Given the description of an element on the screen output the (x, y) to click on. 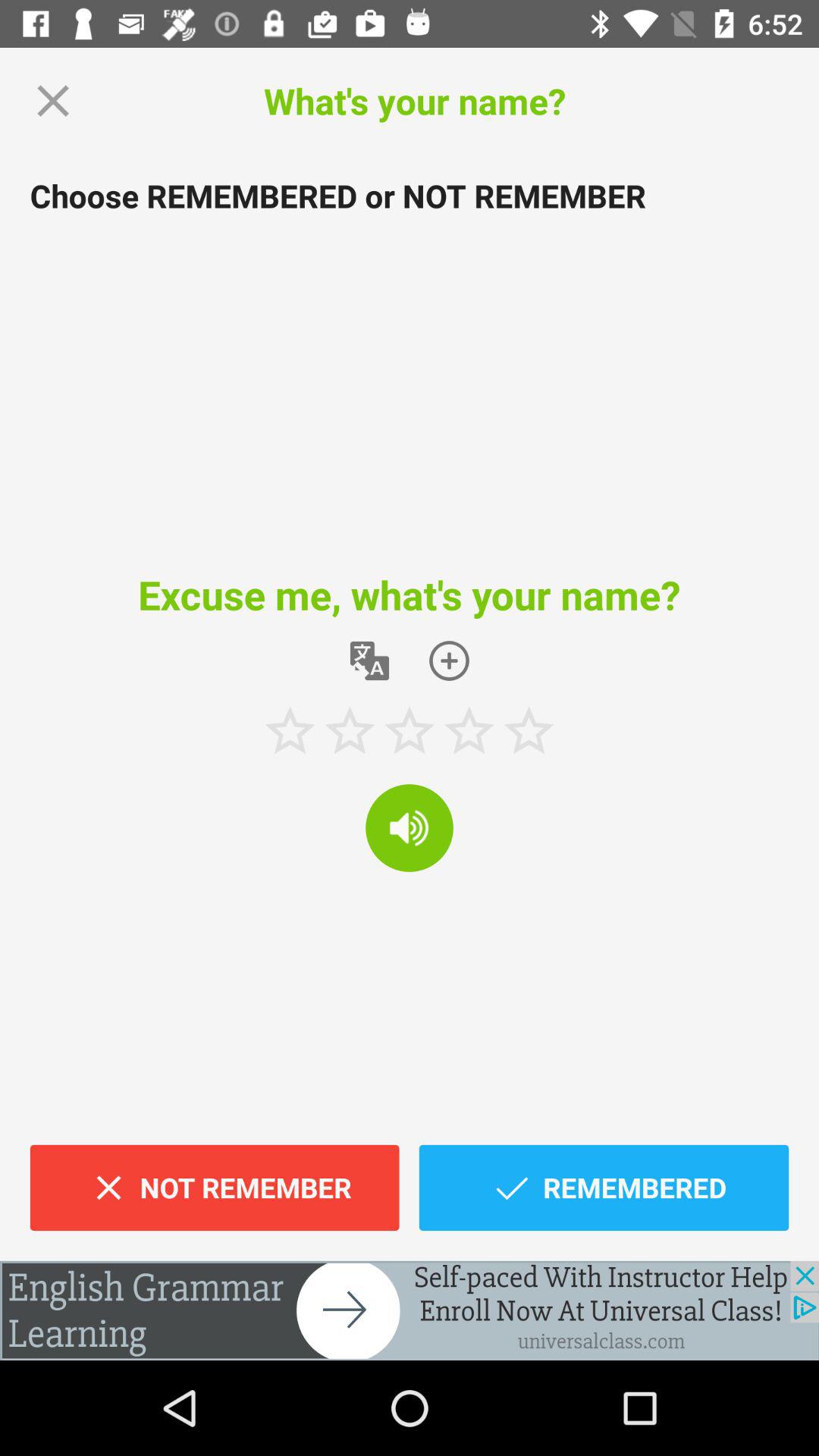
volume (409, 827)
